Given the description of an element on the screen output the (x, y) to click on. 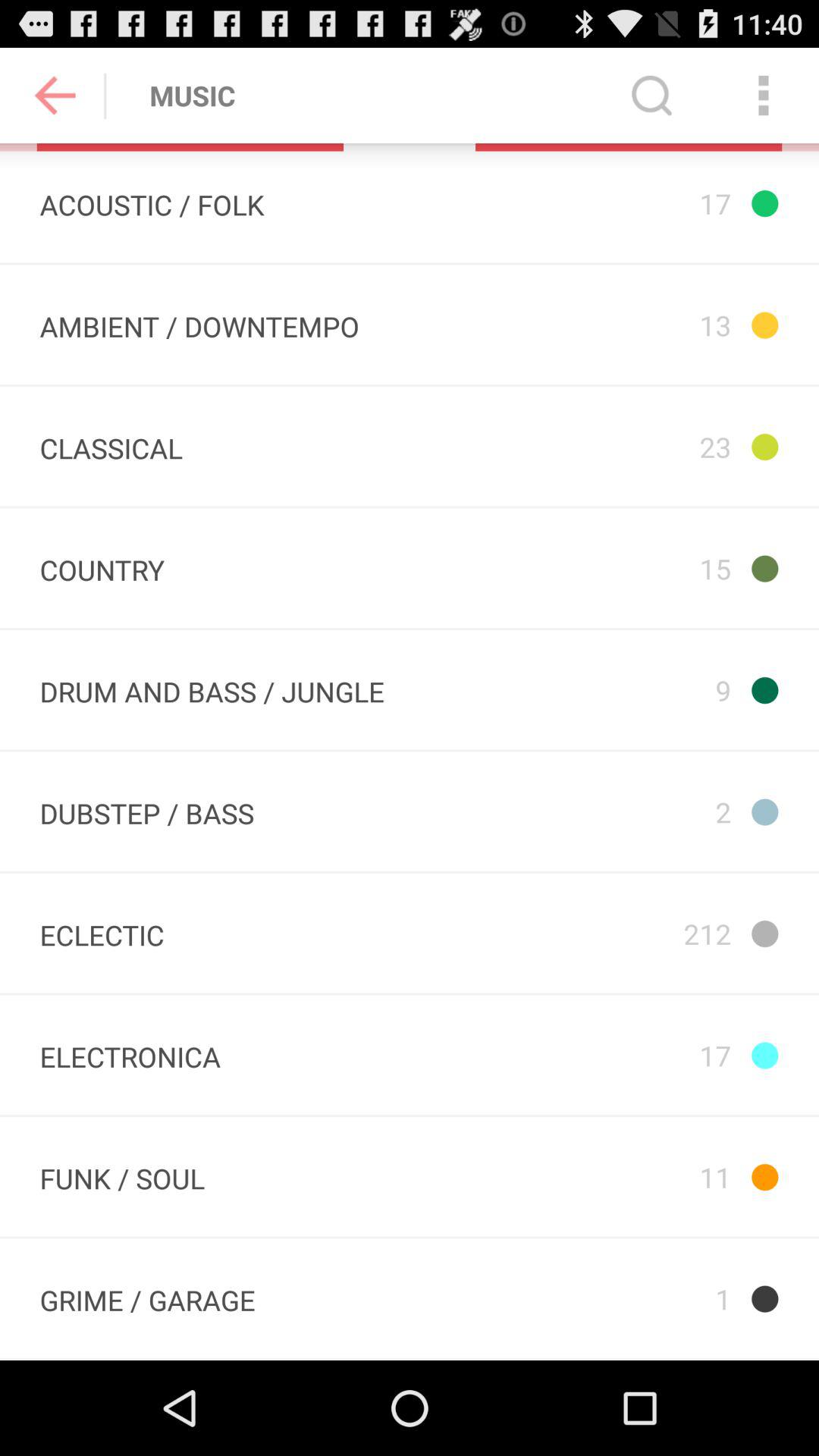
choose the icon next to 15 item (102, 567)
